Given the description of an element on the screen output the (x, y) to click on. 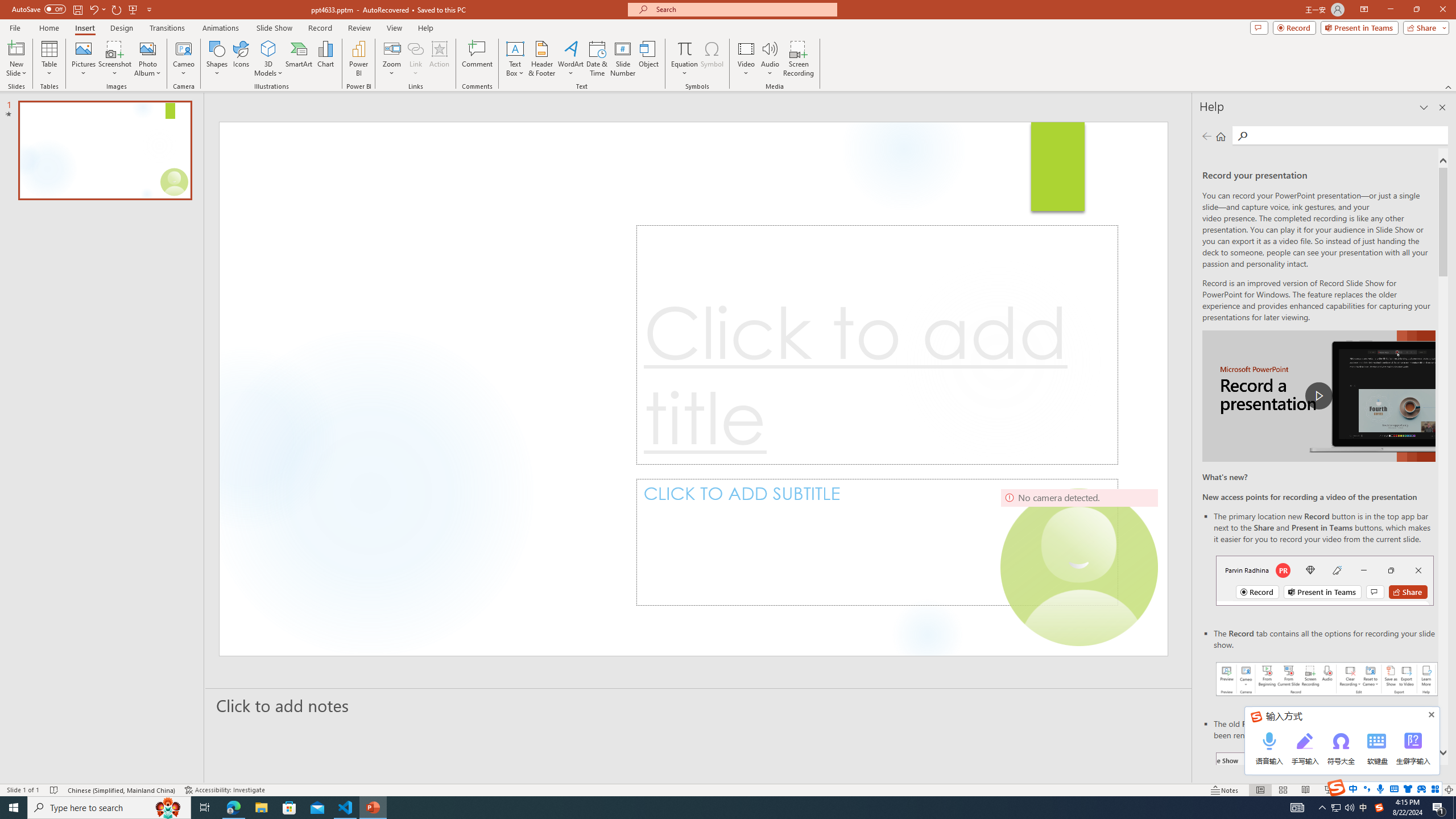
play Record a Presentation (1318, 395)
Action (439, 58)
Equation (683, 48)
3D Models (268, 58)
Previous page (1206, 136)
Object... (649, 58)
Link (415, 58)
Table (49, 58)
